Given the description of an element on the screen output the (x, y) to click on. 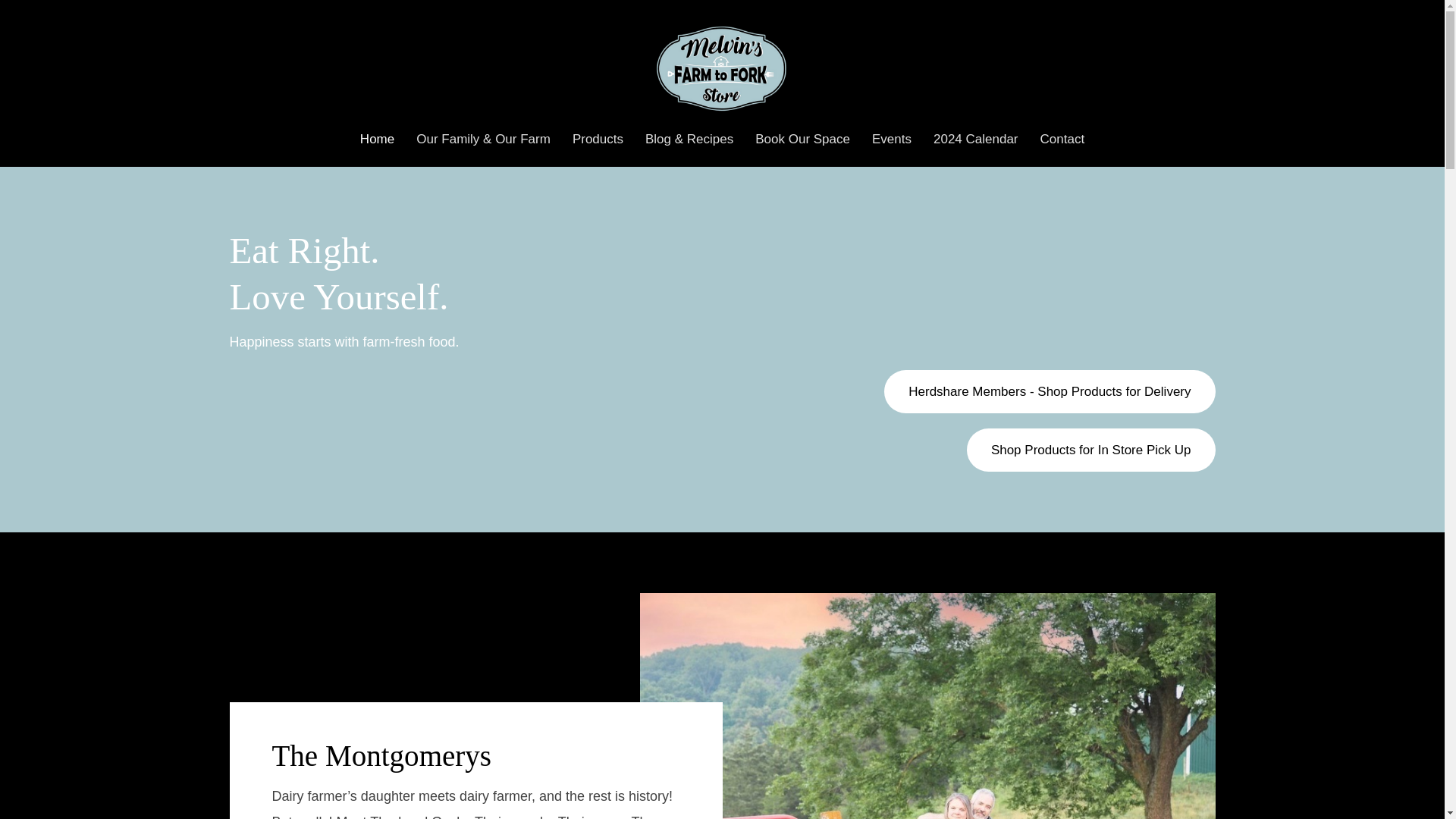
Home (376, 138)
2024 Calendar (975, 138)
Products (597, 138)
Contact (1062, 138)
Events (891, 138)
Herdshare Members - Shop Products for Delivery (1048, 391)
Shop Products for In Store Pick Up (1090, 449)
Book Our Space (802, 138)
